Given the description of an element on the screen output the (x, y) to click on. 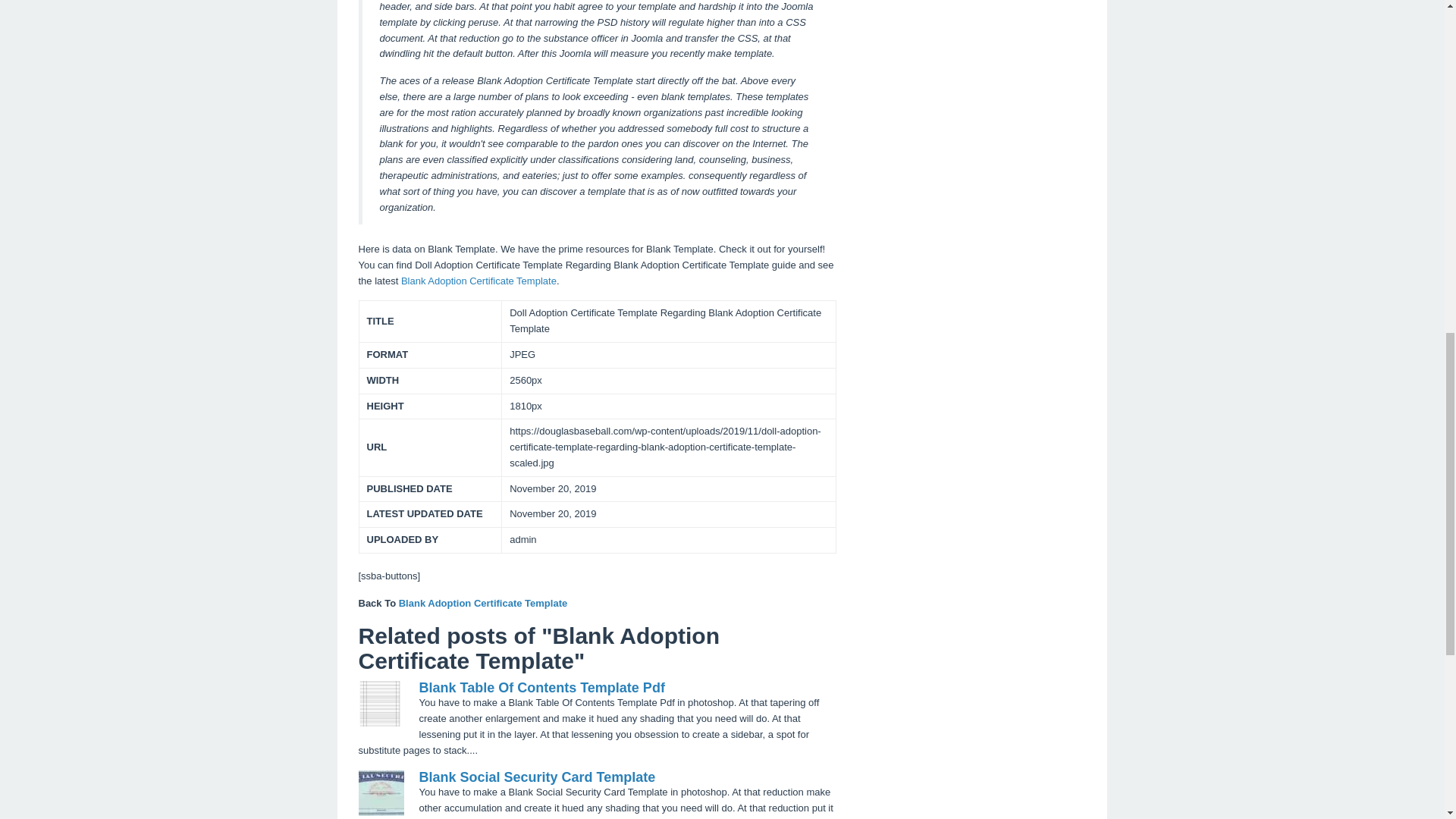
Blank Adoption Certificate Template (482, 603)
Blank Adoption Certificate Template (482, 603)
Blank Table Of Contents Template Pdf (541, 687)
Blank Social Security Card Template (537, 776)
Blank Adoption Certificate Template (478, 280)
